Given the description of an element on the screen output the (x, y) to click on. 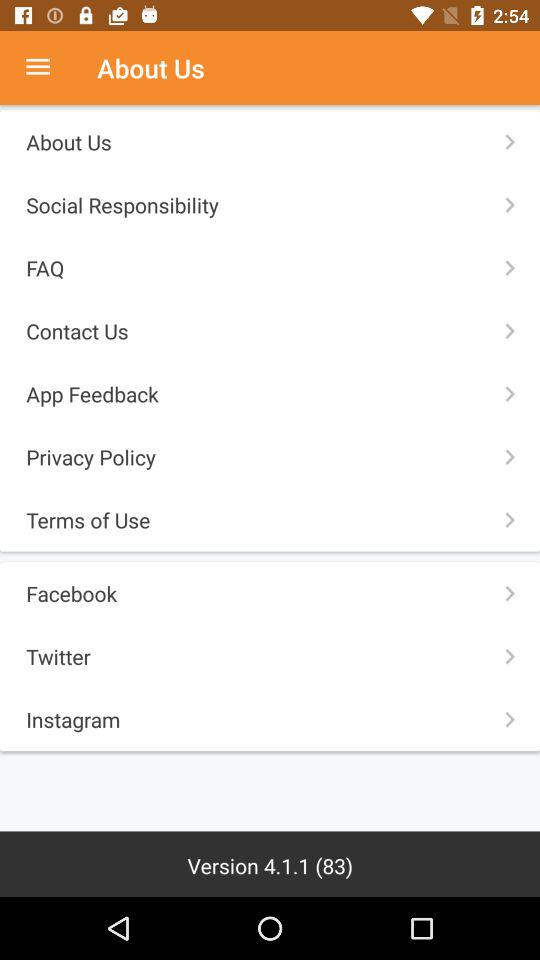
open drop down menu (48, 67)
